Given the description of an element on the screen output the (x, y) to click on. 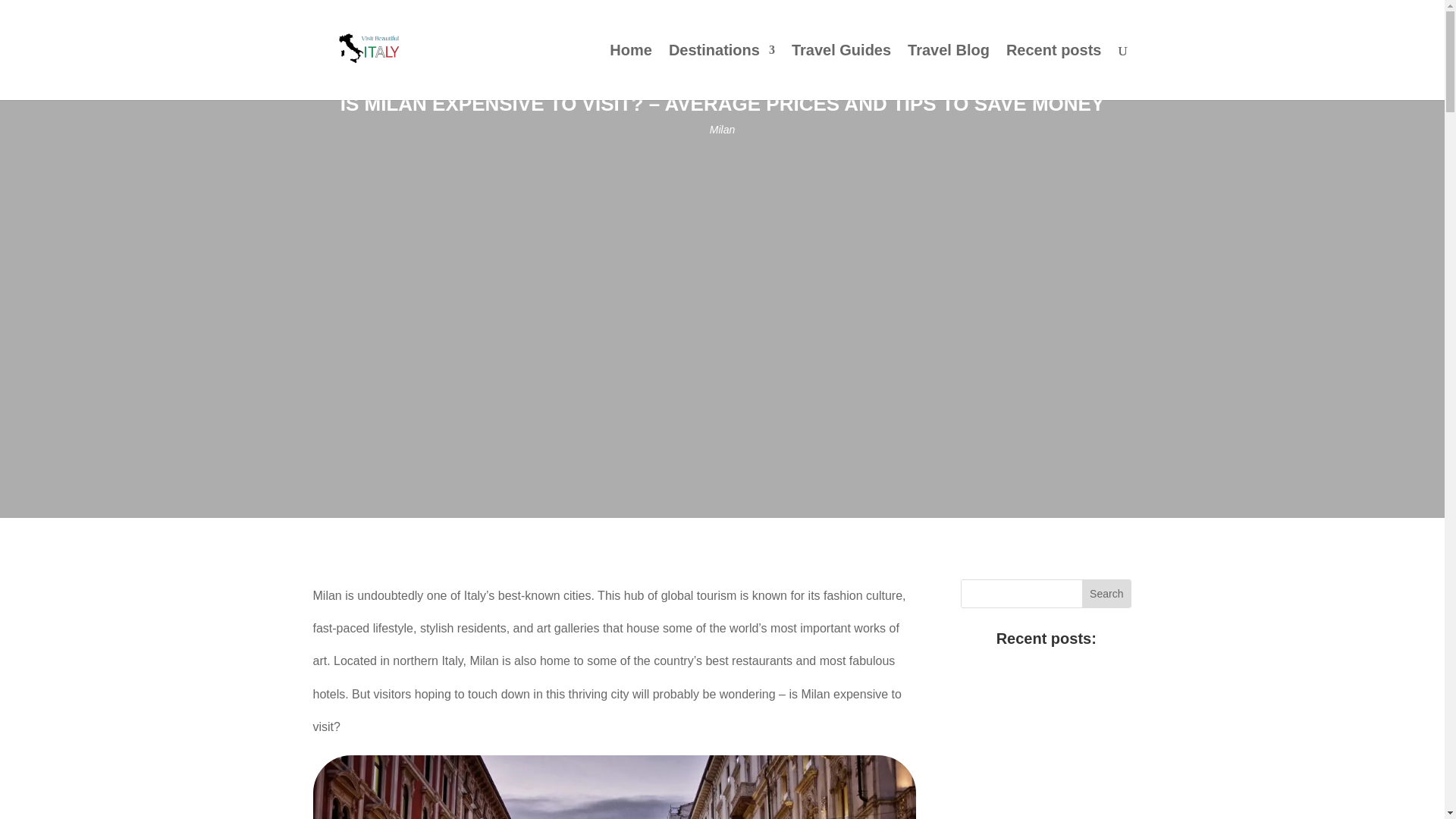
Search (1106, 593)
Destinations (721, 72)
Search (1106, 593)
Milan (722, 129)
Travel Guides (841, 72)
Travel Blog (948, 72)
Recent posts (1054, 72)
